Given the description of an element on the screen output the (x, y) to click on. 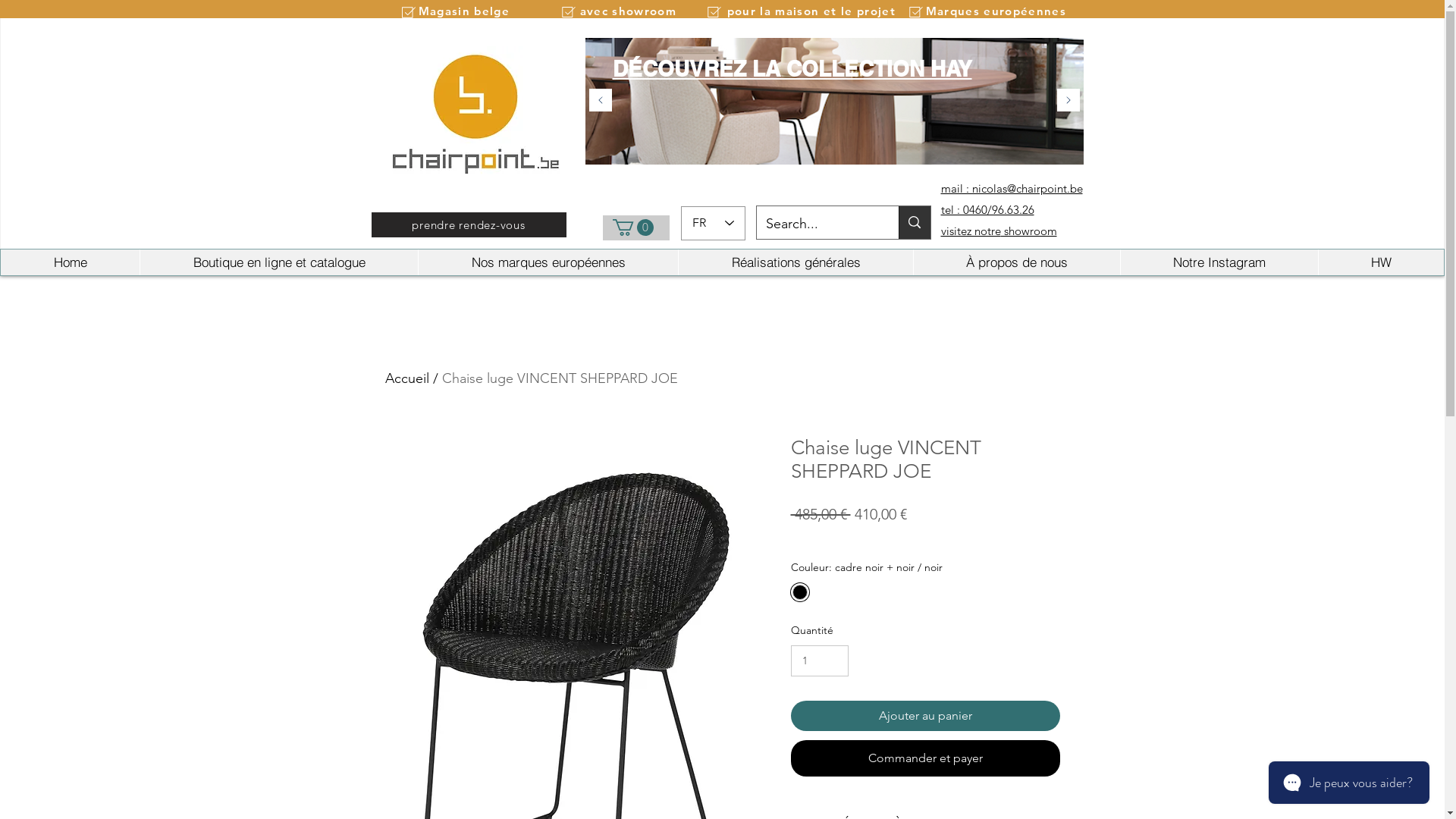
tel : 0460/96.63.26 Element type: text (986, 209)
 showroom Element type: text (1029, 230)
prendre rendez-vous Element type: text (468, 224)
mail : nicolas@chairpoint.be Element type: text (1011, 188)
Accueil Element type: text (407, 378)
Home Element type: text (69, 262)
Bouton J'aime Facebook Element type: hover (1051, 32)
Chaise luge VINCENT SHEPPARD JOE Element type: text (559, 378)
0 Element type: text (632, 227)
Boutique en ligne et catalogue Element type: text (278, 262)
Notre Instagram Element type: text (1218, 262)
Ajouter au panier Element type: text (924, 715)
Commander et payer Element type: text (924, 758)
HW Element type: text (1380, 262)
visitez notre Element type: text (970, 230)
